Given the description of an element on the screen output the (x, y) to click on. 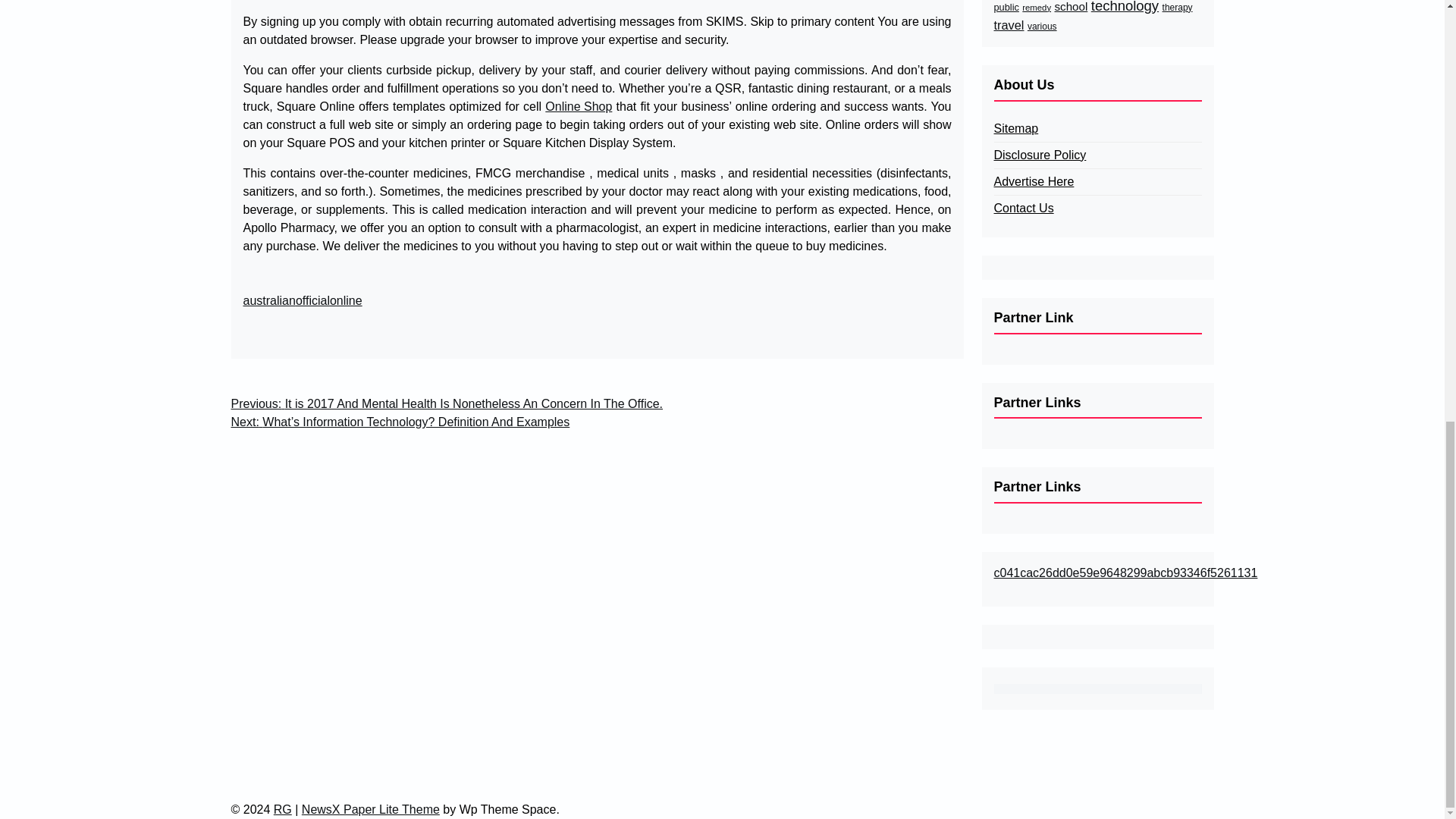
online (346, 300)
official (312, 300)
australian (269, 300)
Seedbacklink (1096, 688)
Online Shop (577, 106)
